Given the description of an element on the screen output the (x, y) to click on. 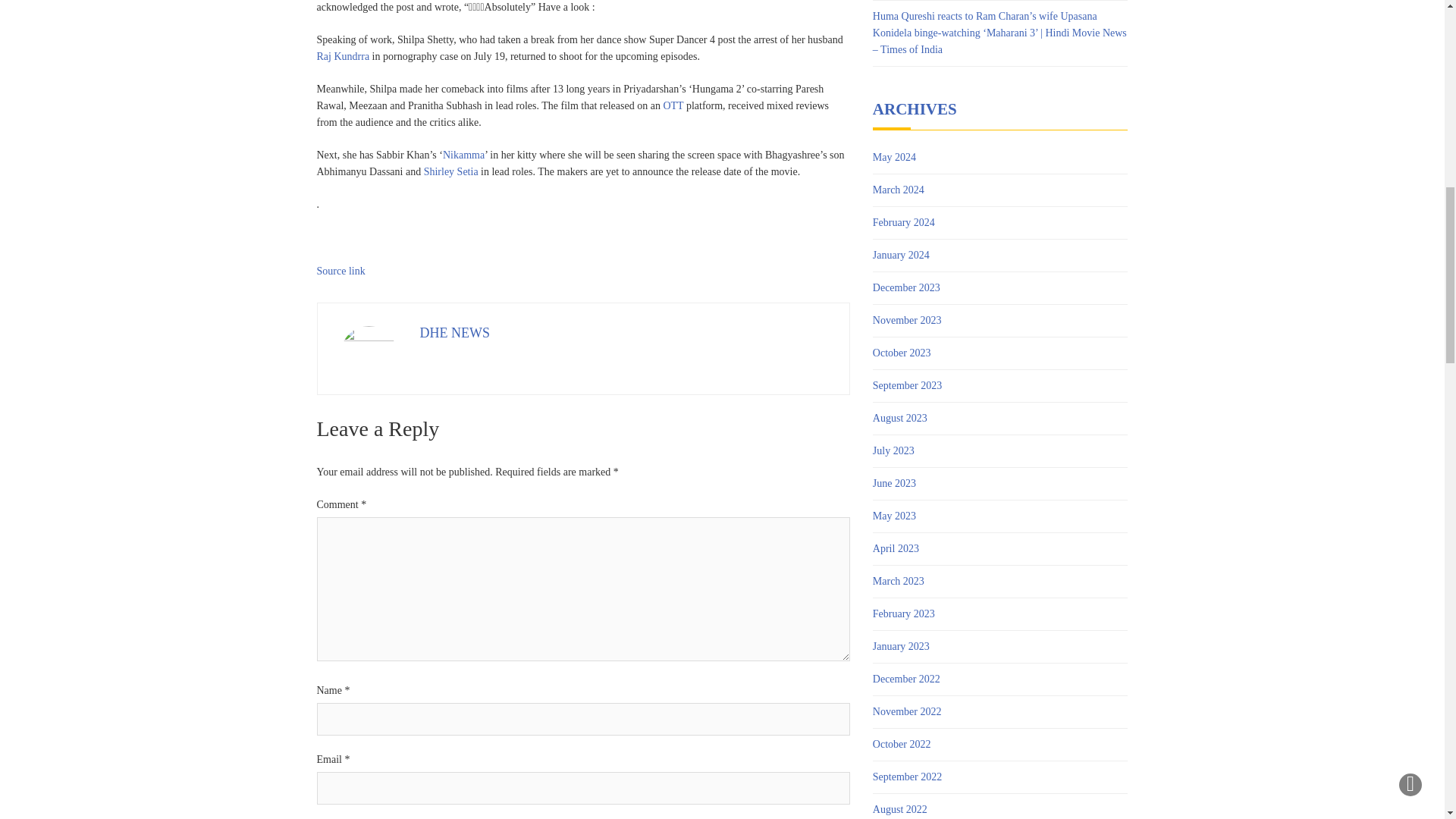
OTT (672, 105)
Nikamma (463, 154)
Shirley Setia (451, 171)
February 2024 (903, 222)
March 2024 (898, 190)
DHE NEWS (455, 332)
Source link (341, 270)
May 2024 (893, 157)
Raj Kundrra (343, 56)
